Given the description of an element on the screen output the (x, y) to click on. 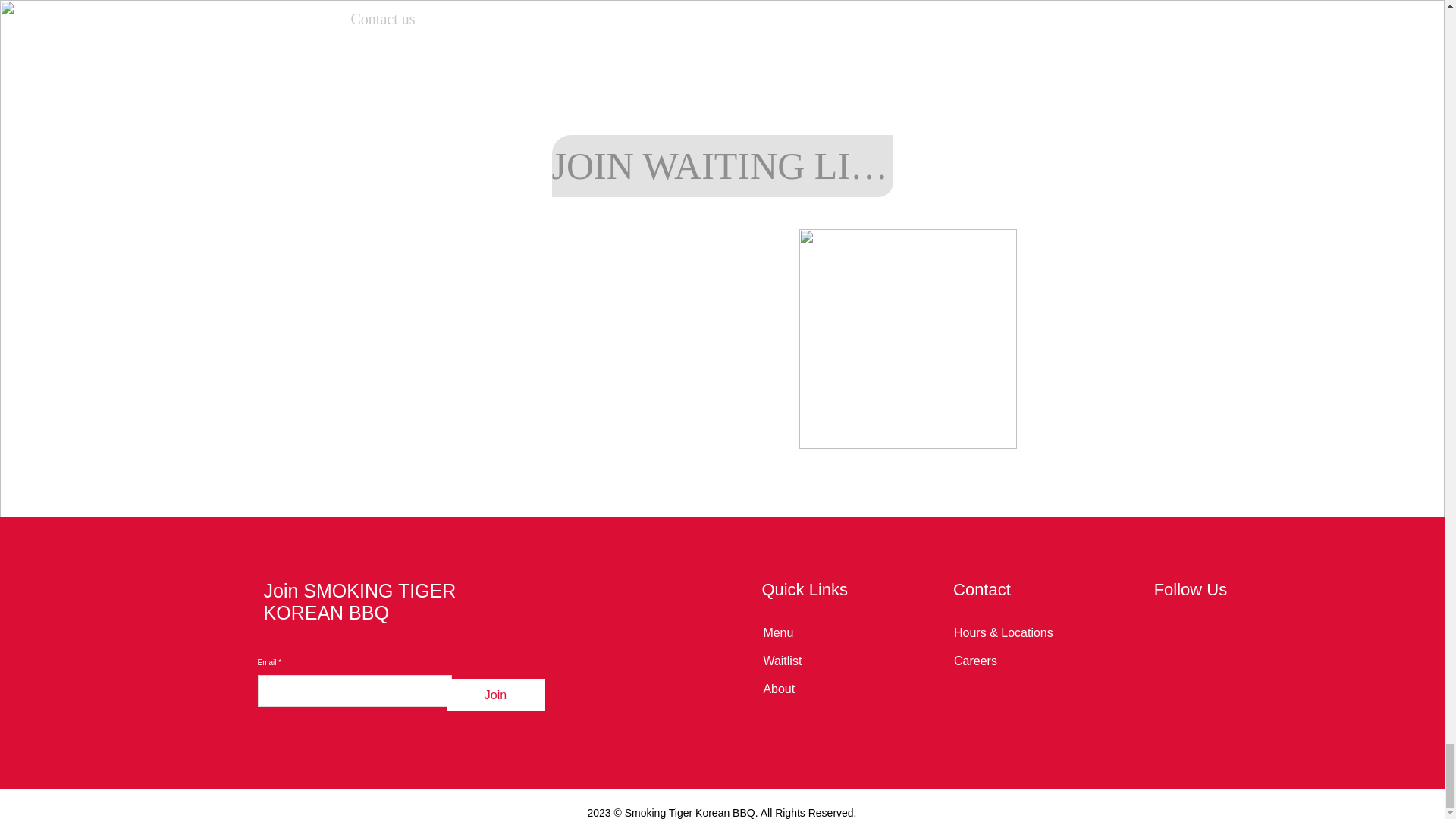
About (778, 688)
Waitlist (782, 660)
Careers (975, 660)
Menu (777, 632)
Join (495, 695)
JOIN WAITING LIST (722, 166)
